Given the description of an element on the screen output the (x, y) to click on. 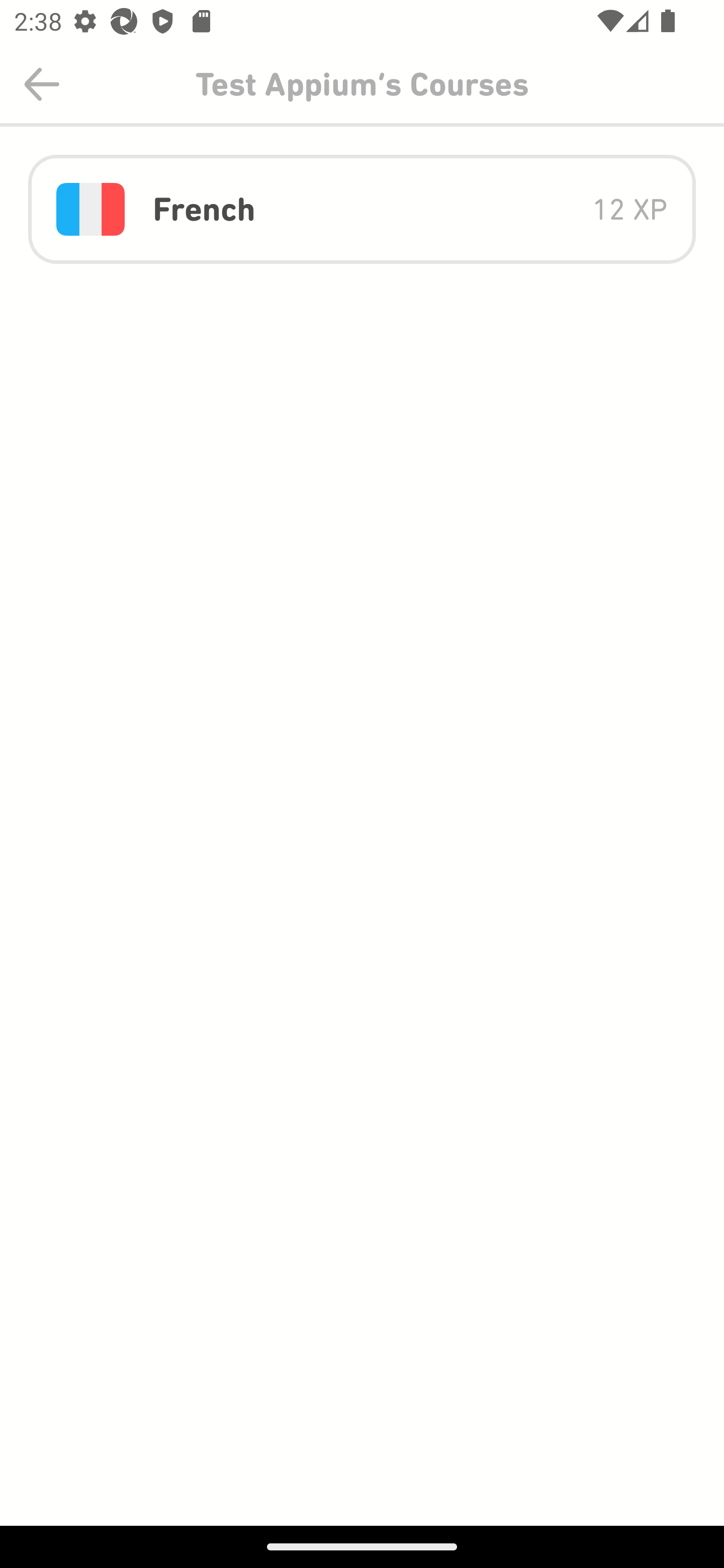
Back (41, 84)
